Given the description of an element on the screen output the (x, y) to click on. 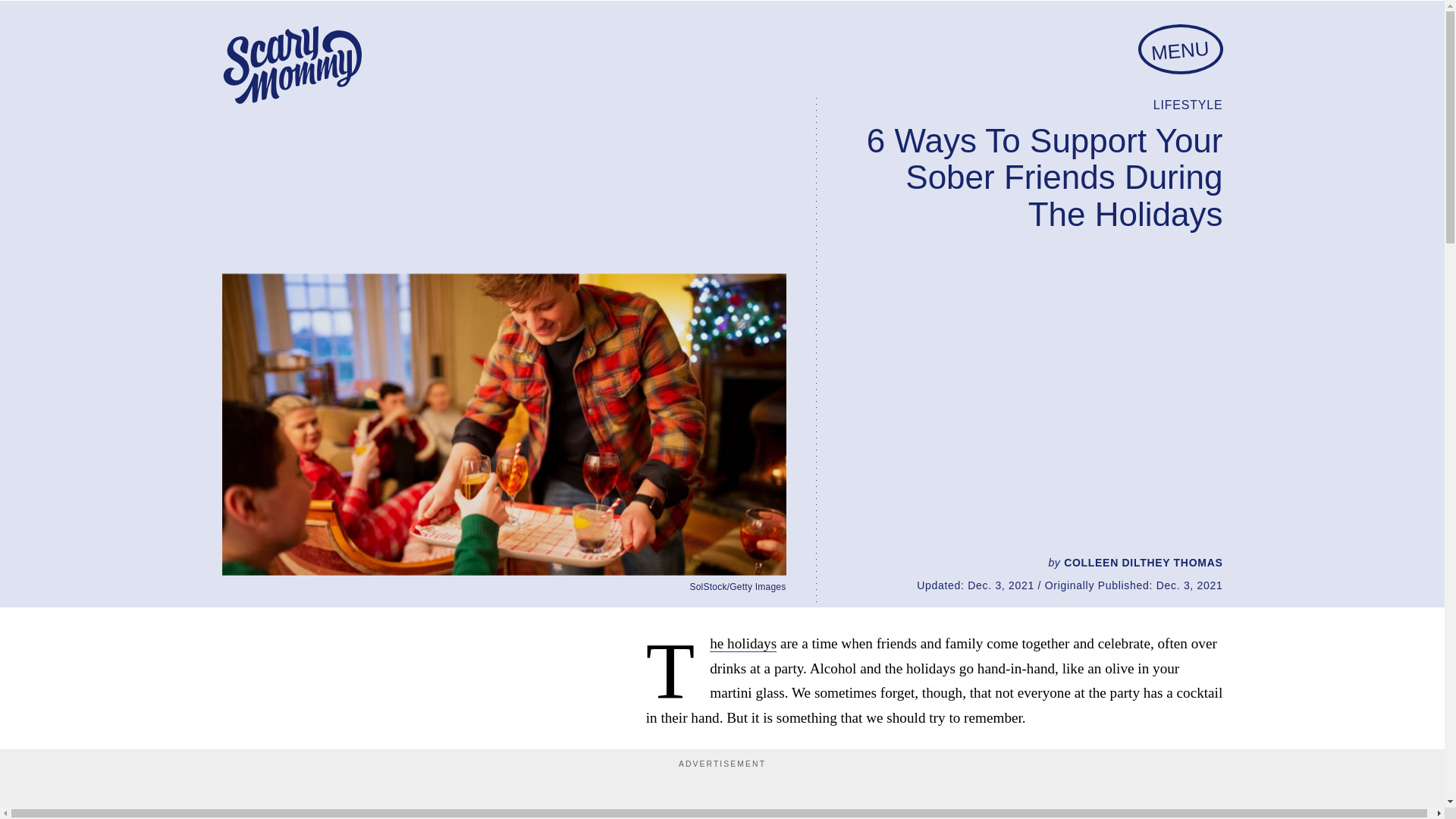
Scary Mommy (291, 64)
The holidays (743, 643)
